Given the description of an element on the screen output the (x, y) to click on. 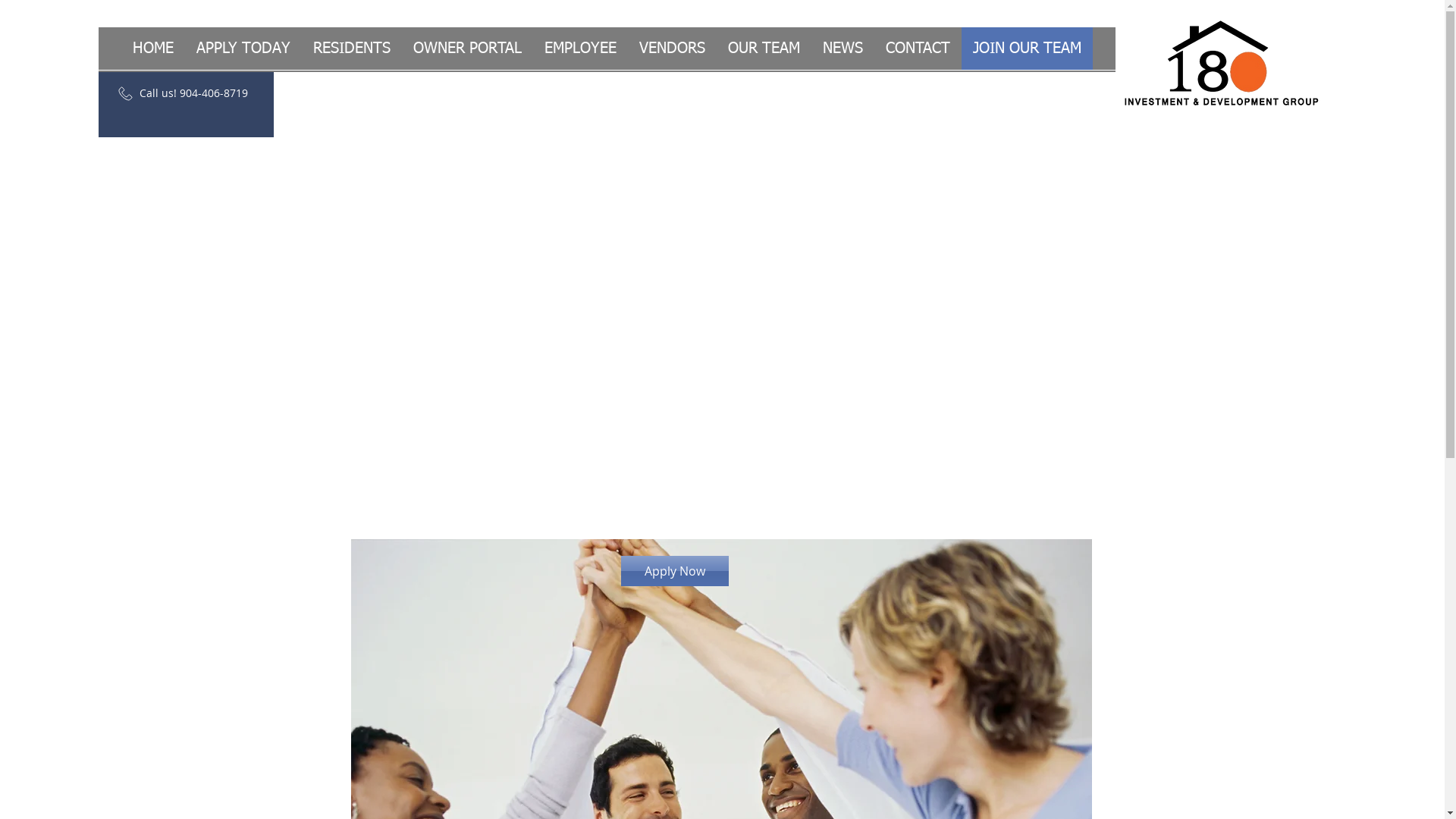
EMPLOYEE Element type: text (579, 48)
CONTACT Element type: text (916, 48)
JOIN OUR TEAM Element type: text (1026, 48)
OWNER PORTAL Element type: text (467, 48)
Apply Now Element type: text (674, 570)
NEWS Element type: text (842, 48)
HOME Element type: text (153, 48)
OUR TEAM Element type: text (762, 48)
RESIDENTS Element type: text (351, 48)
VENDORS Element type: text (671, 48)
APPLY TODAY Element type: text (243, 48)
